Given the description of an element on the screen output the (x, y) to click on. 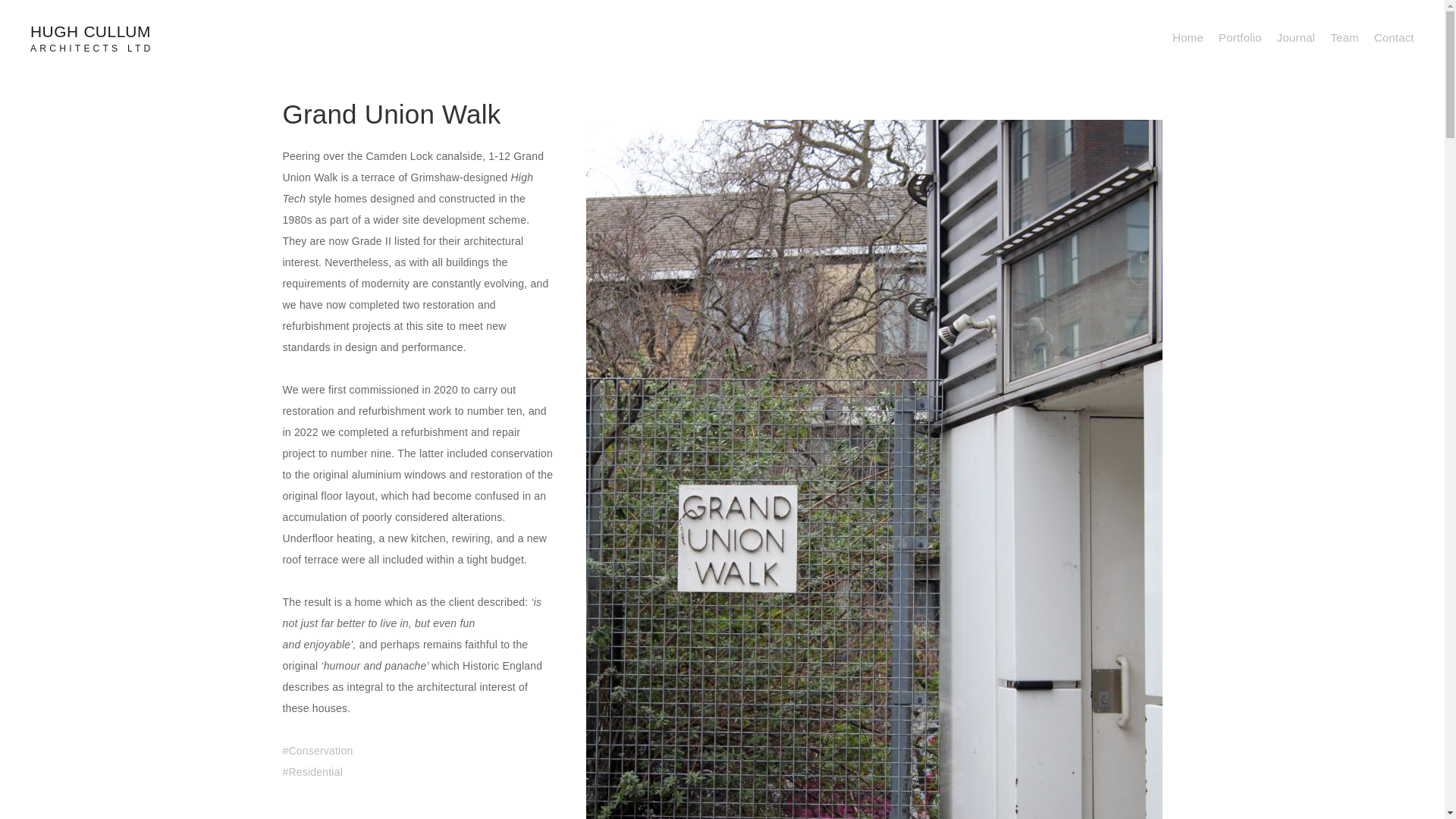
Team (1344, 37)
Journal (1296, 37)
Portfolio (1240, 37)
Home (1188, 37)
Contact (1393, 37)
